Given the description of an element on the screen output the (x, y) to click on. 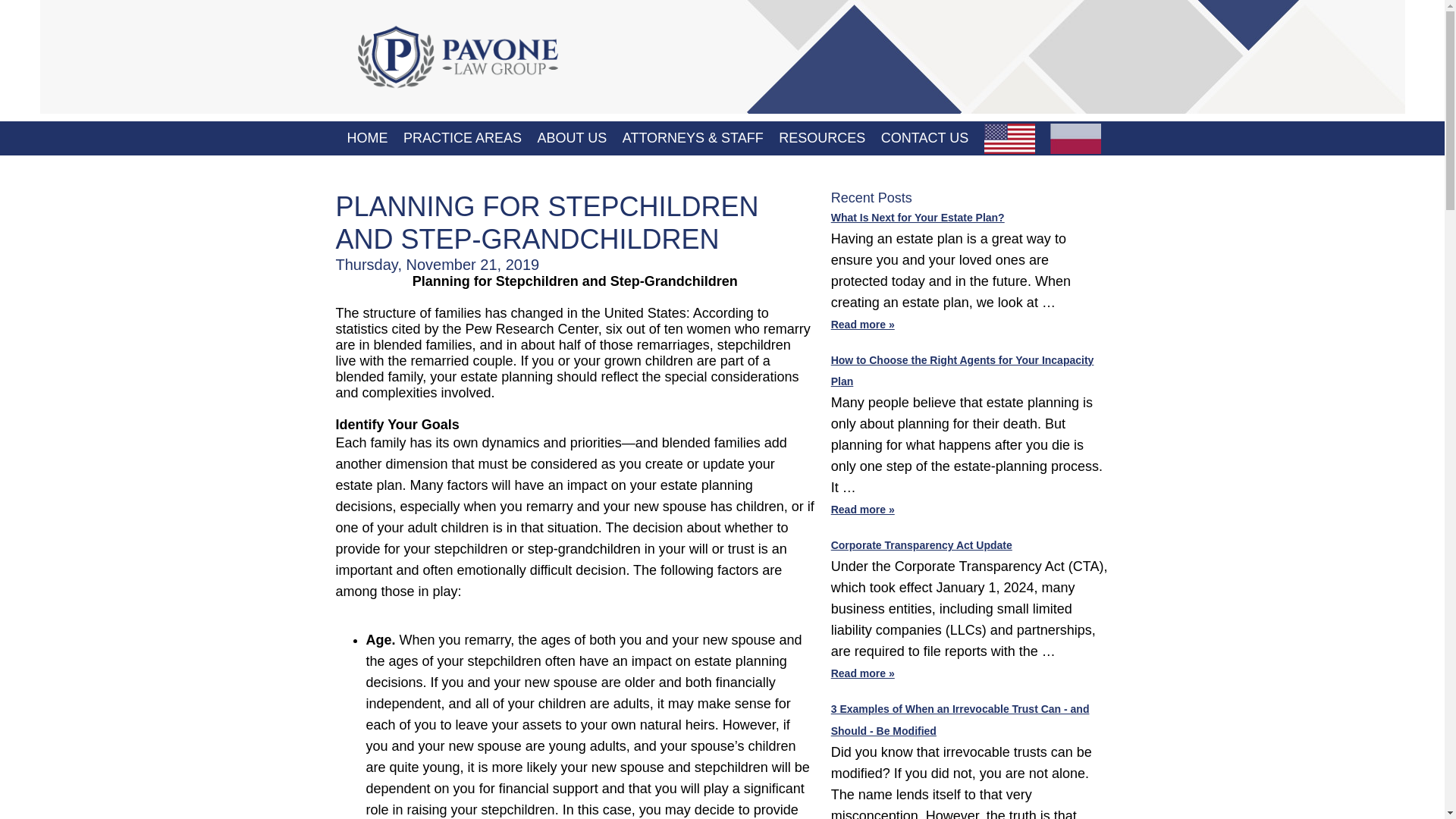
HOME (365, 138)
Polish-Language site (1074, 137)
RESOURCES (821, 138)
ABOUT US (572, 138)
Skip to primary content (404, 130)
PRACTICE AREAS (462, 138)
English-Language site (1009, 137)
CONTACT US (924, 138)
Skip to primary content (404, 130)
